Given the description of an element on the screen output the (x, y) to click on. 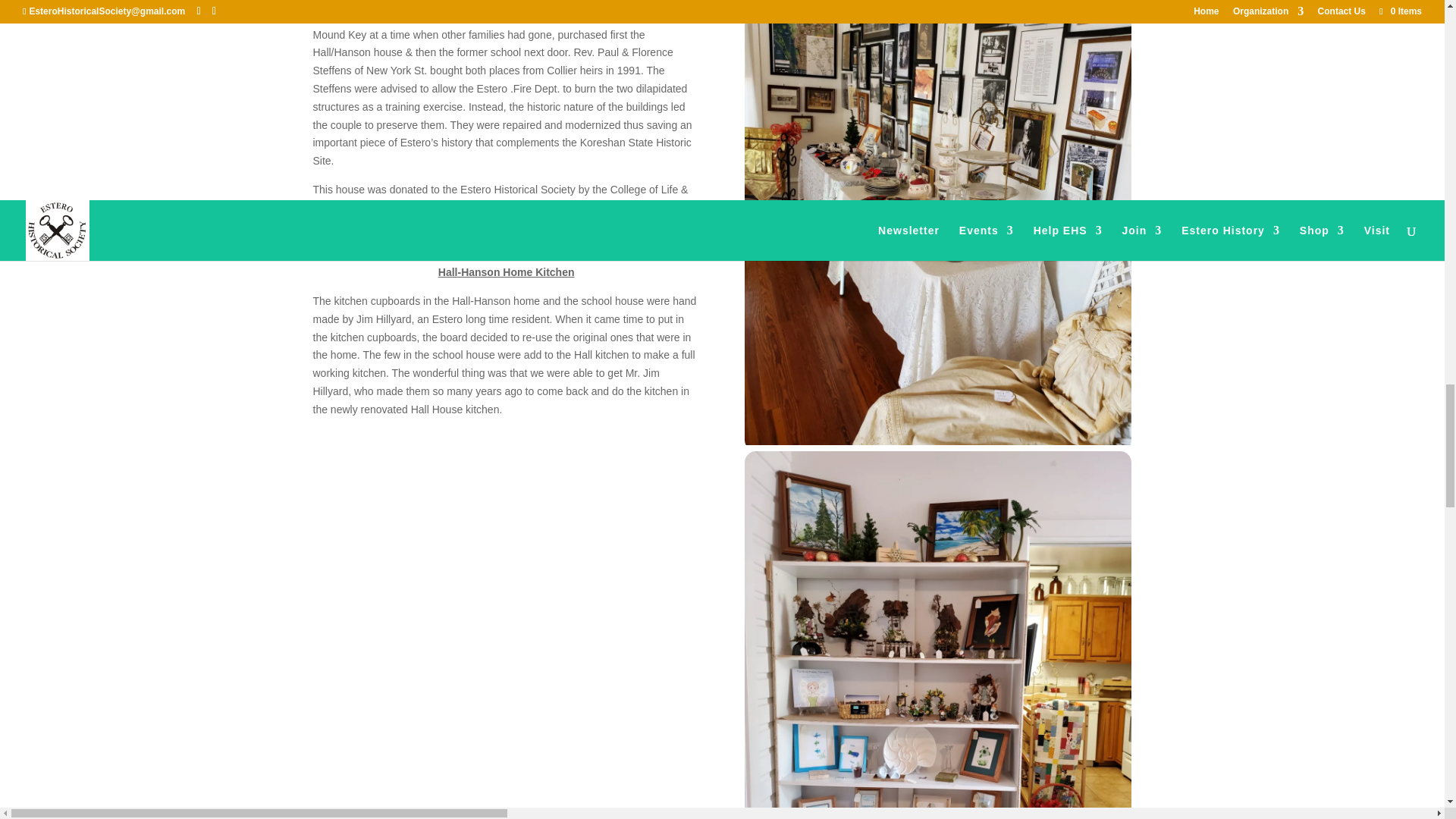
Cottage Gift Shop 3 (937, 440)
